Given the description of an element on the screen output the (x, y) to click on. 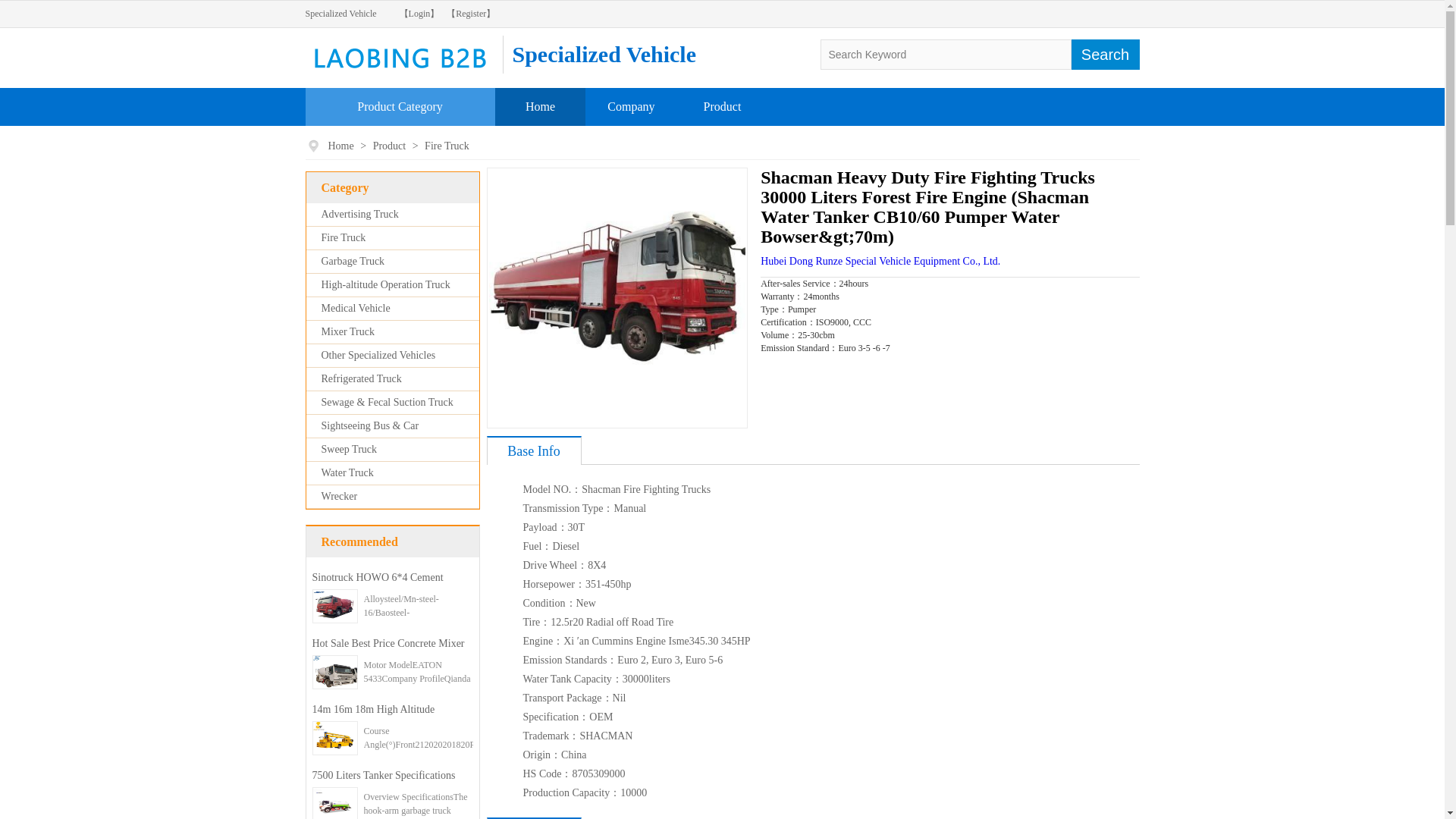
Other Specialized Vehicles (378, 355)
Search Keyword (946, 54)
Fire Truck (446, 145)
Refrigerated Truck (361, 378)
Search Keyword (946, 54)
Medical Vehicle (355, 307)
Home (341, 145)
Water Truck (347, 472)
Search (1104, 54)
Company (630, 106)
